Given the description of an element on the screen output the (x, y) to click on. 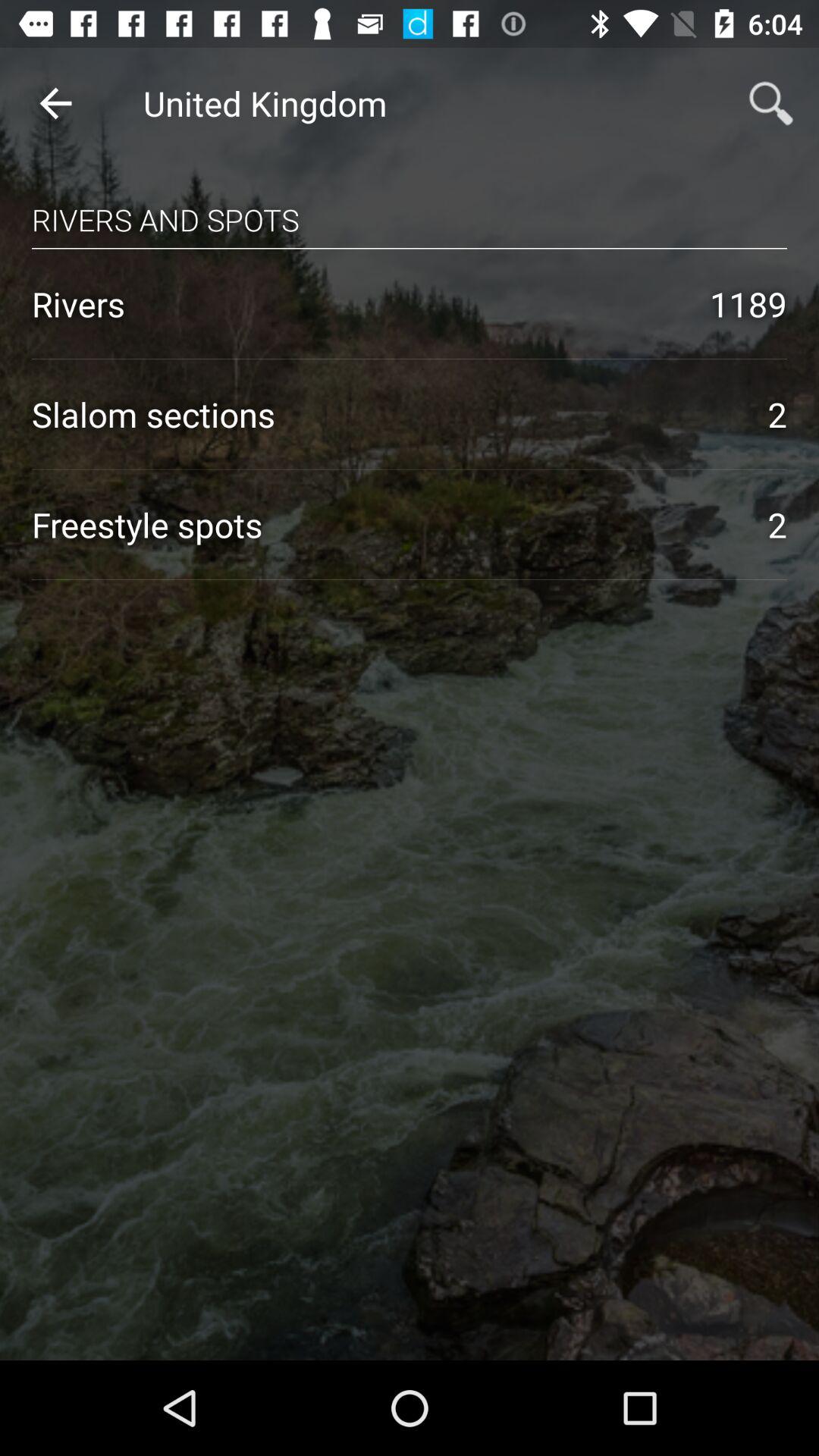
choose slalom sections (383, 414)
